Given the description of an element on the screen output the (x, y) to click on. 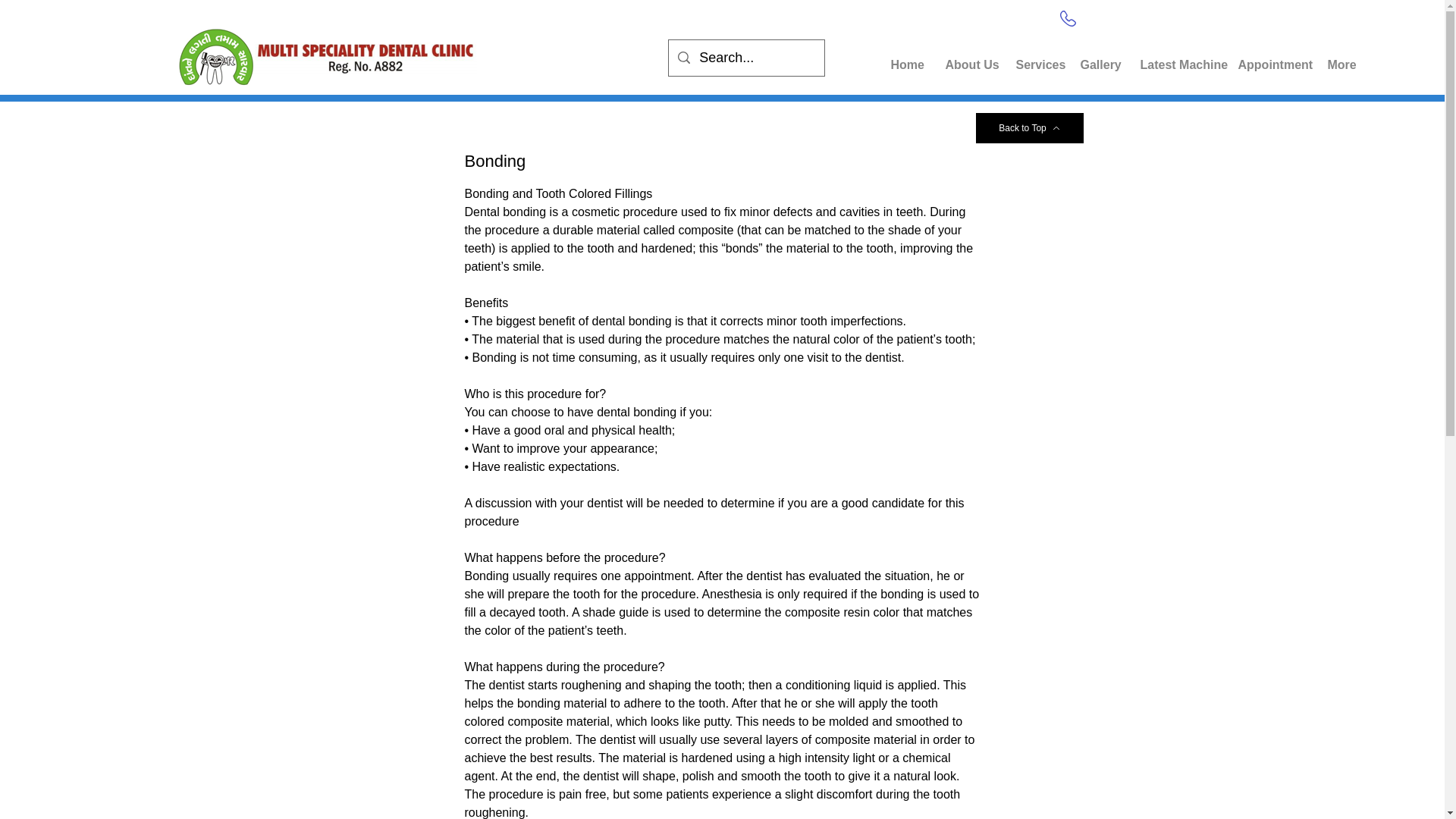
Back to Top (1029, 128)
About Us (966, 58)
Services (1035, 58)
Home (903, 58)
Gallery (1095, 58)
Appointment (1268, 58)
